Given the description of an element on the screen output the (x, y) to click on. 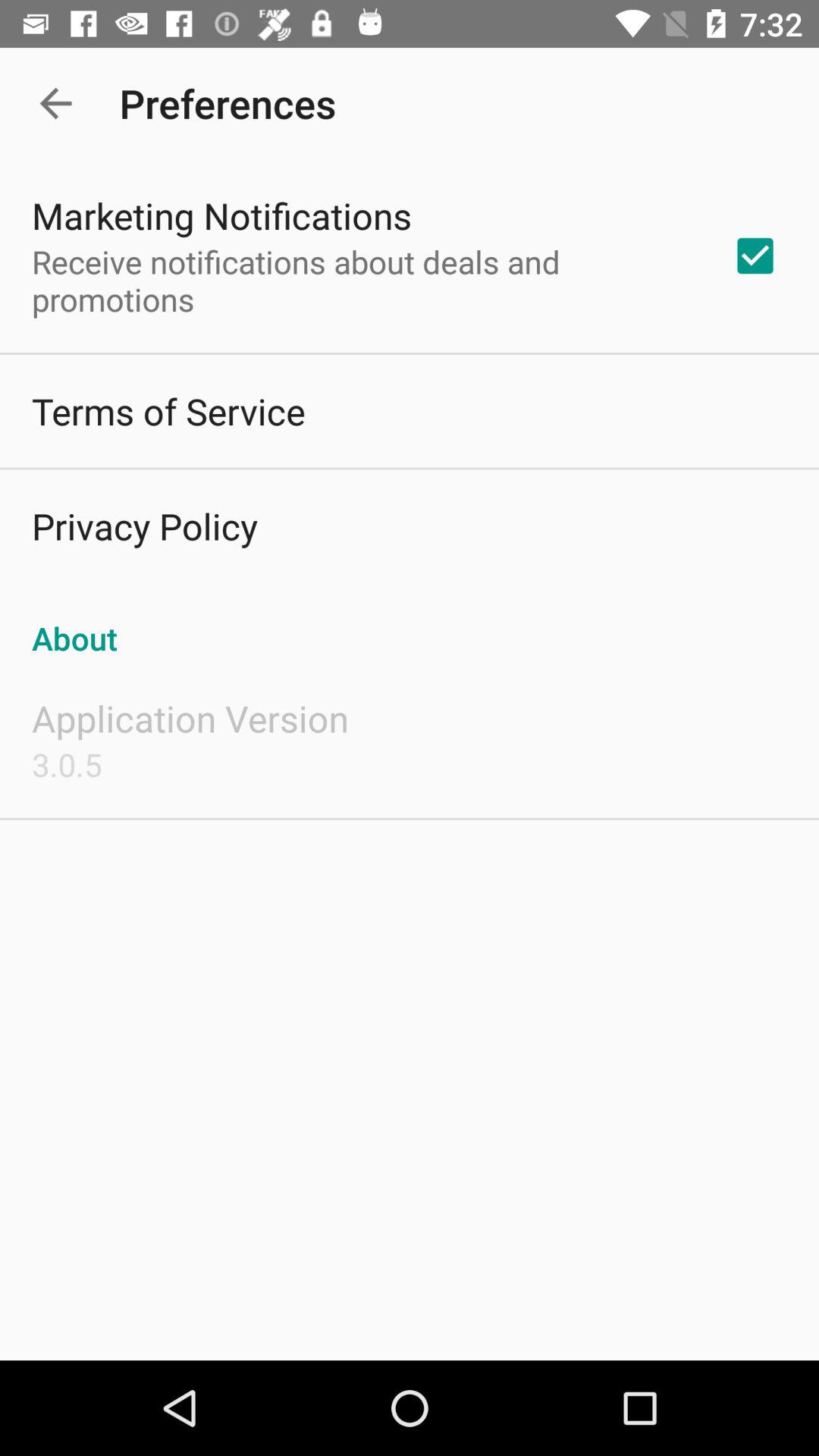
turn off the checkbox at the top right corner (755, 255)
